Given the description of an element on the screen output the (x, y) to click on. 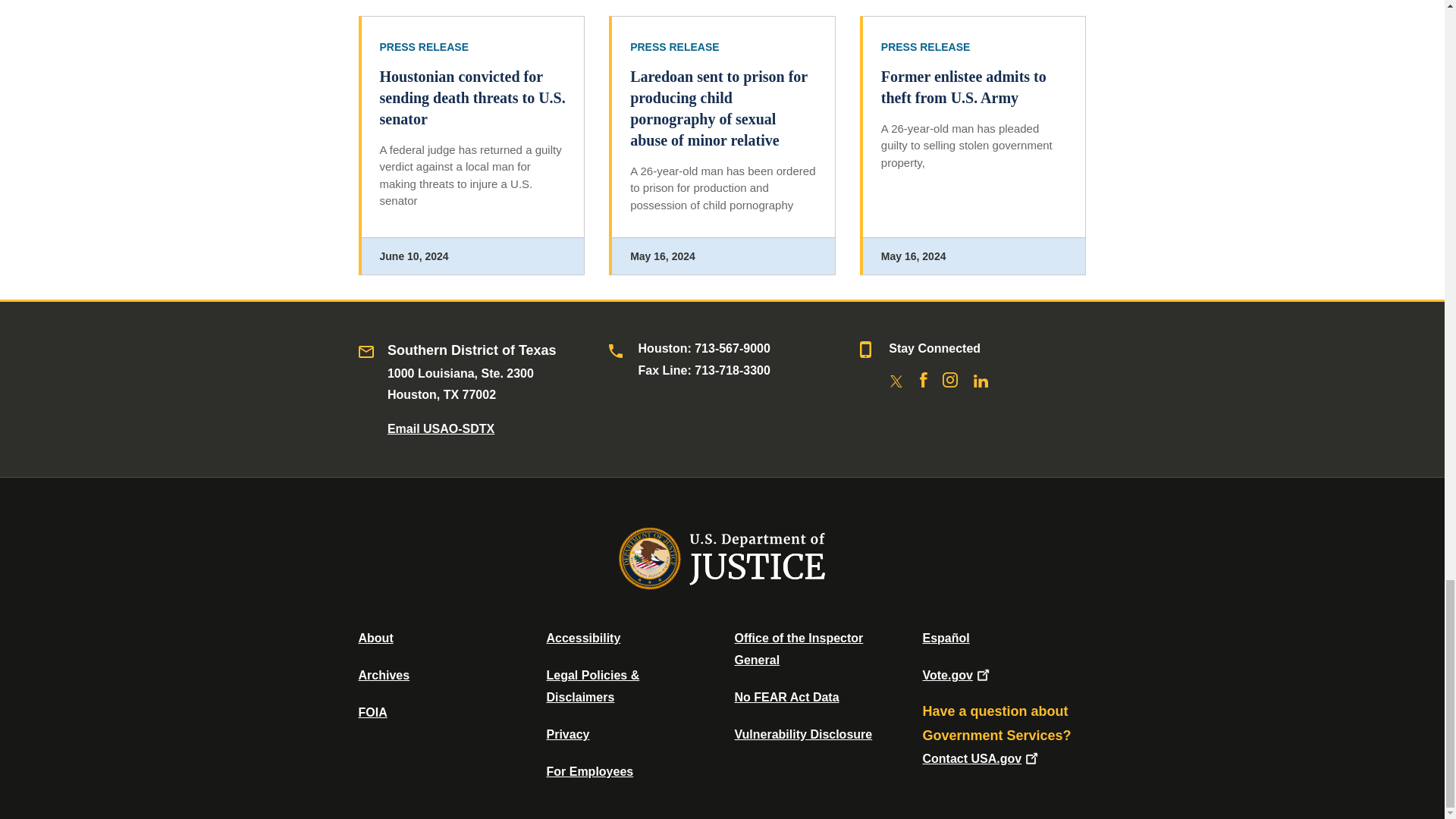
Office of Information Policy (372, 712)
Legal Policies and Disclaimers (592, 686)
For Employees (589, 771)
Department of Justice Archive (383, 675)
About DOJ (375, 637)
Data Posted Pursuant To The No Fear Act (785, 697)
Accessibility Statement (583, 637)
